Given the description of an element on the screen output the (x, y) to click on. 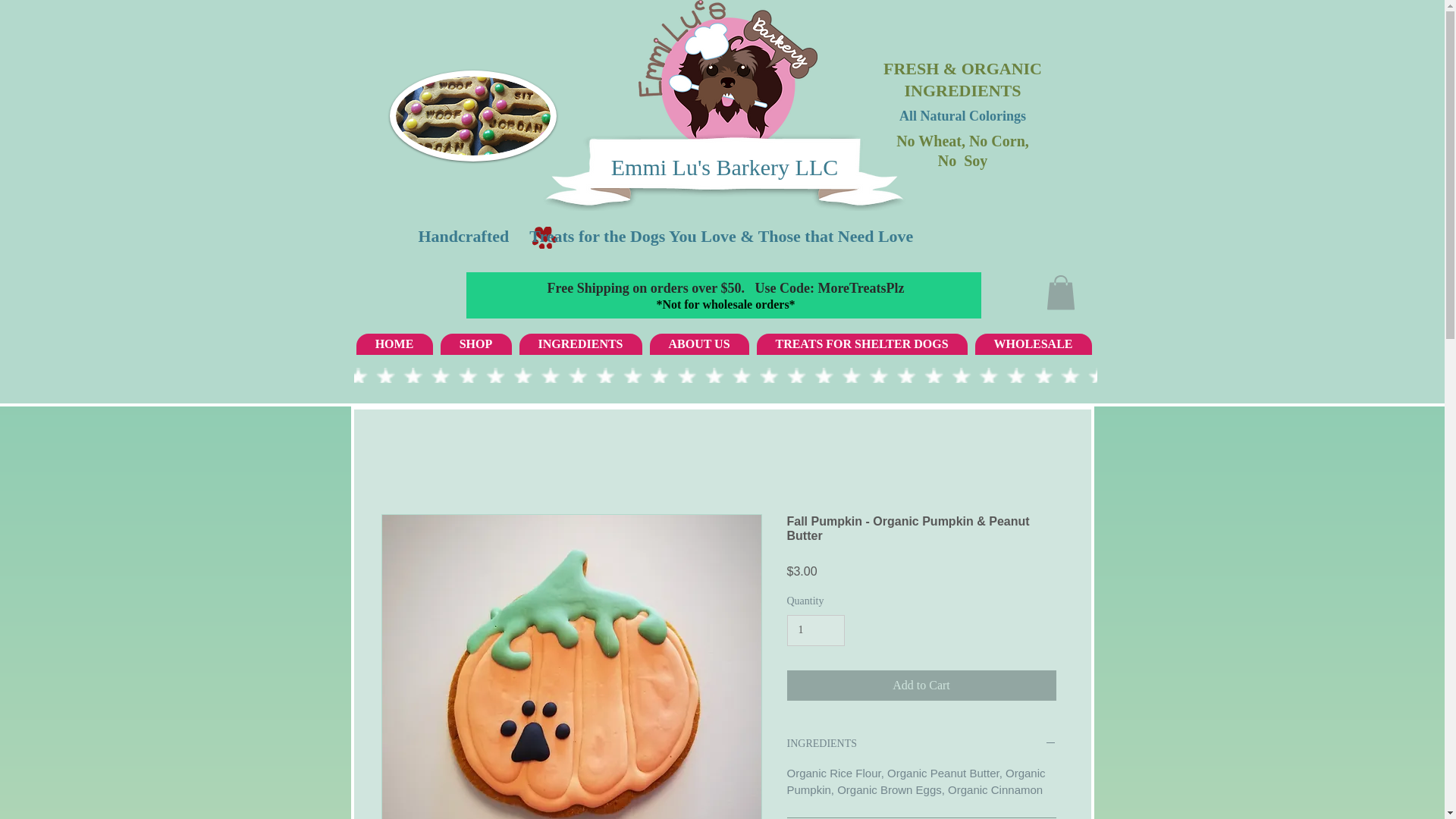
white.png (727, 75)
WHOLESALE (1033, 343)
INGREDIENTS (580, 343)
Facebook Like (1063, 394)
ABOUT US (698, 343)
Colorings (997, 115)
SHOP (475, 343)
1 (815, 630)
INGREDIENTS (962, 90)
HOME (394, 343)
